Given the description of an element on the screen output the (x, y) to click on. 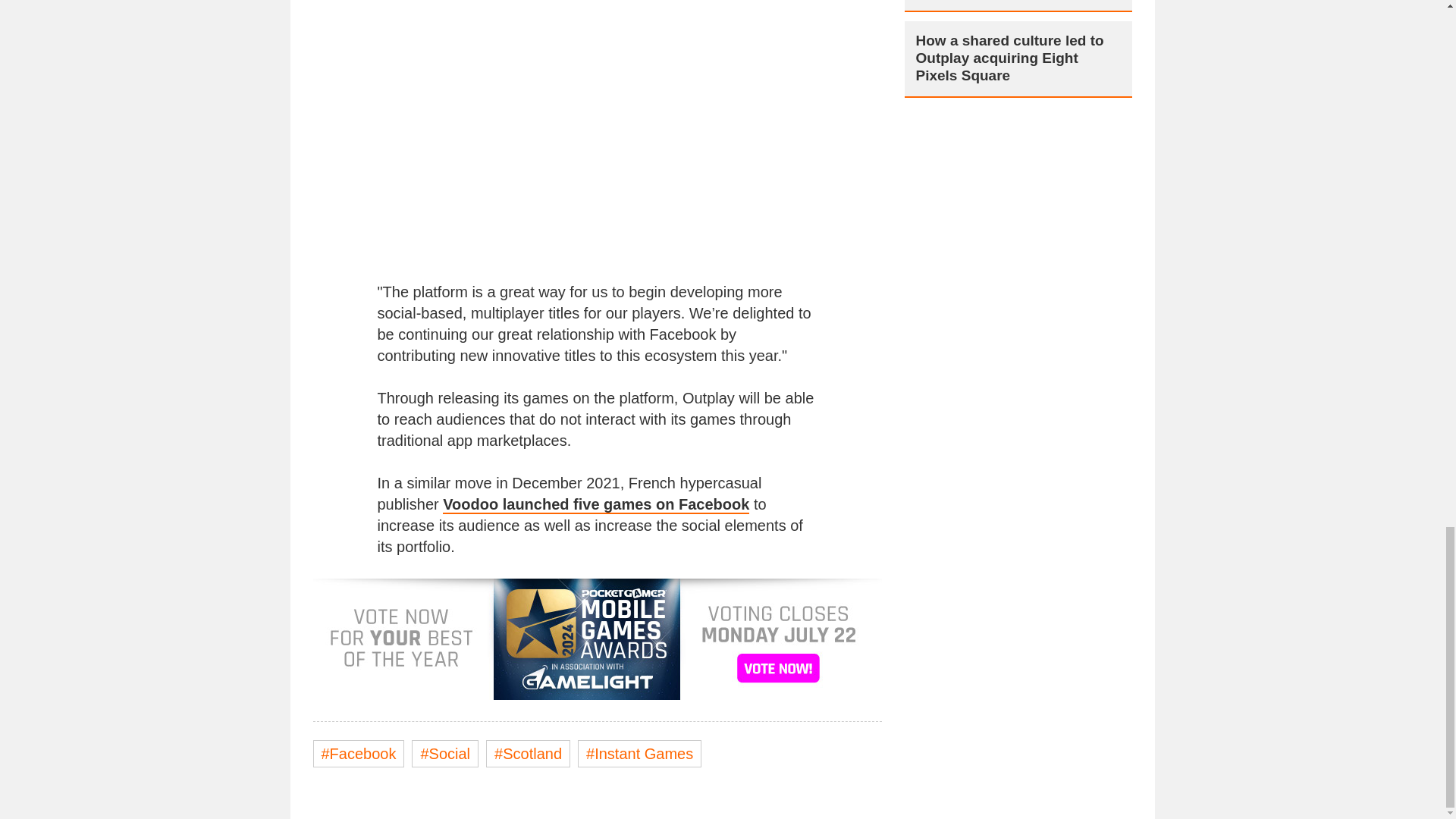
Voodoo launched five games on Facebook (595, 505)
